Given the description of an element on the screen output the (x, y) to click on. 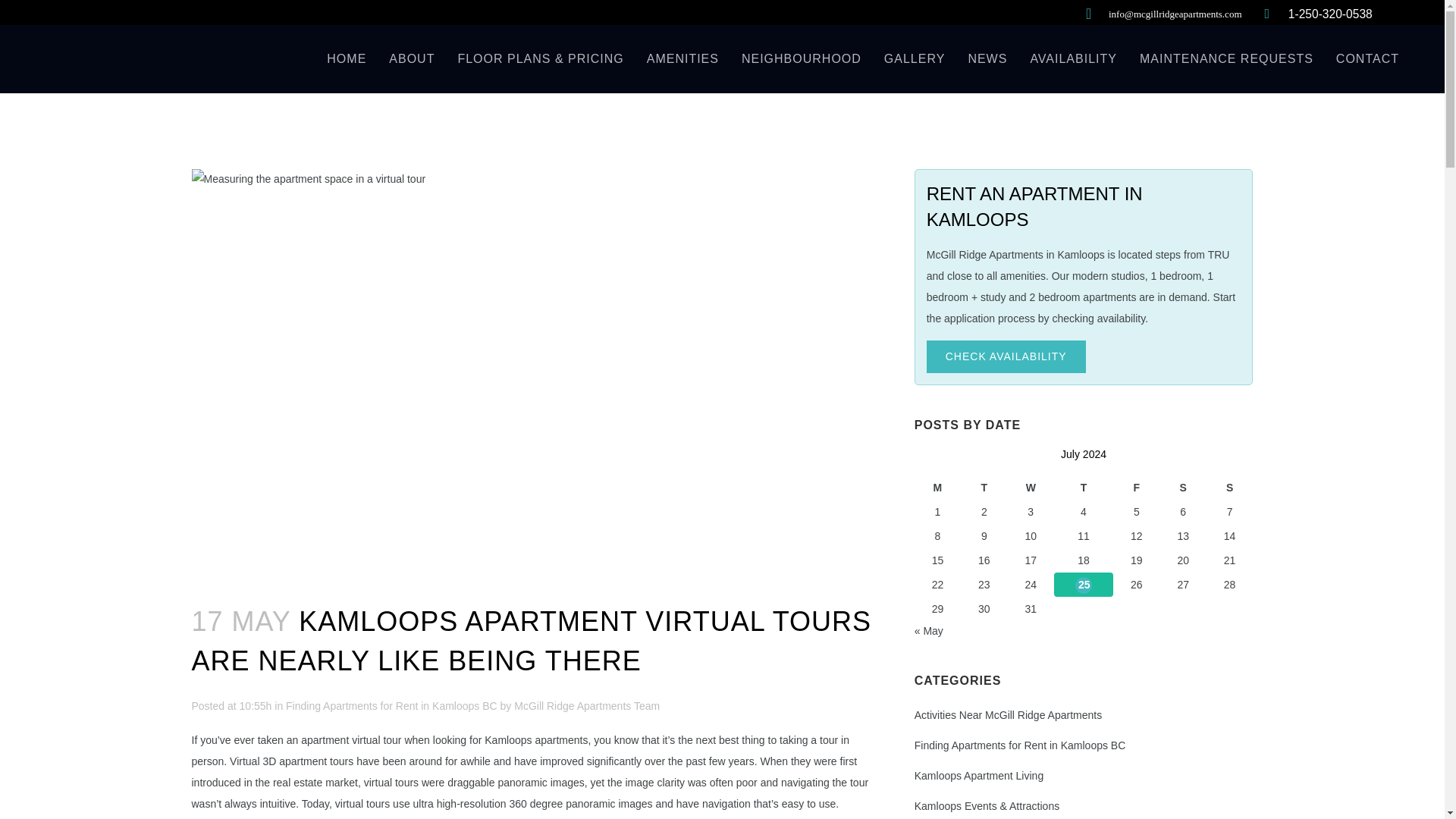
Tuesday (983, 487)
Finding Apartments for Rent in Kamloops BC (391, 705)
Monday (937, 487)
GALLERY (914, 59)
Thursday (1083, 487)
MAINTENANCE REQUESTS (1226, 59)
HOME (346, 59)
25 (1083, 585)
McGill Ridge Apartments in Kamloops (1015, 254)
CONTACT (1367, 59)
NEWS (986, 59)
NEIGHBOURHOOD (801, 59)
Wednesday (1030, 487)
Saturday (1181, 487)
Sunday (1229, 487)
